Given the description of an element on the screen output the (x, y) to click on. 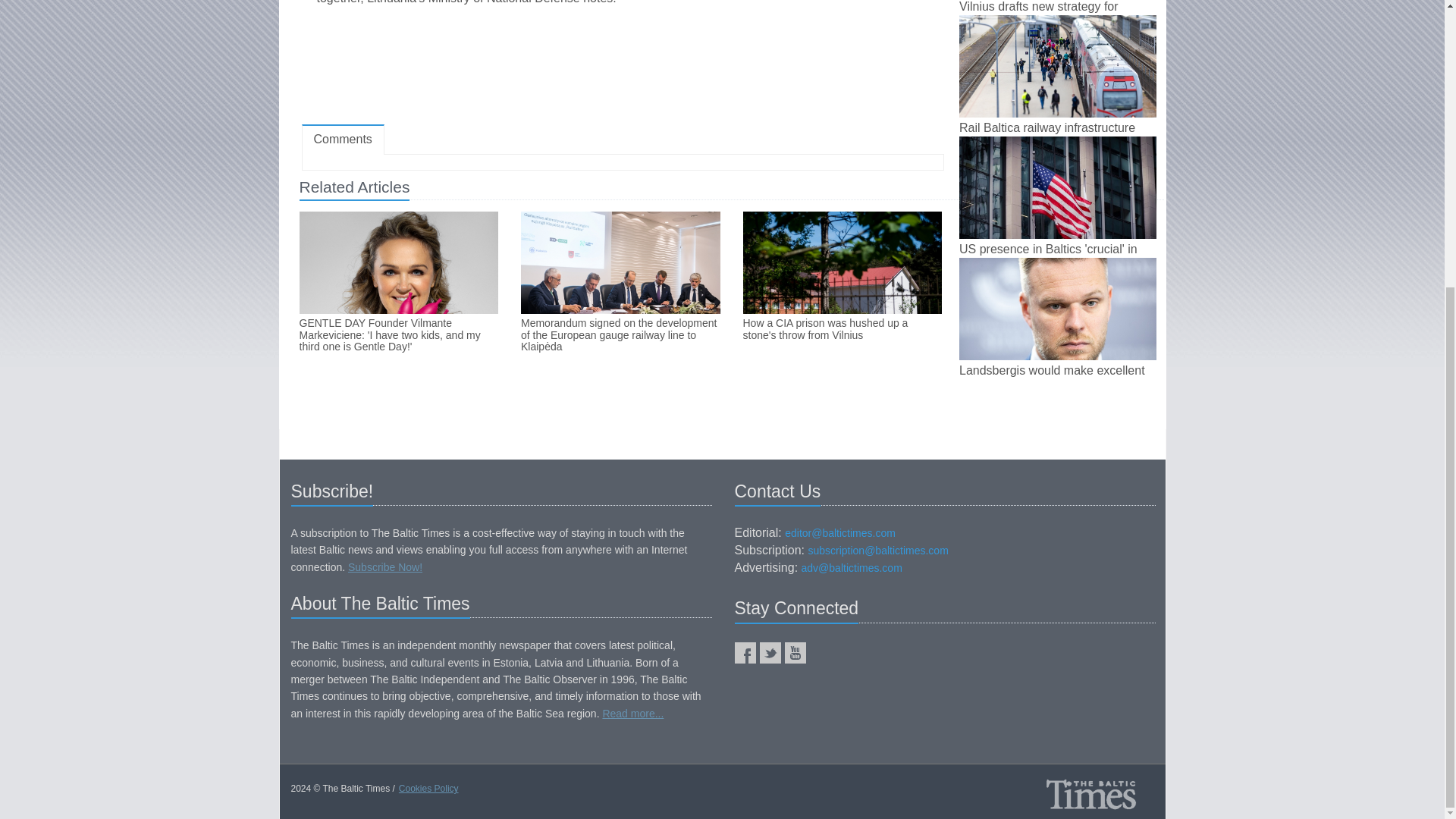
How a CIA prison was hushed up a stone's throw from Vilnius (842, 329)
Advertisement (622, 69)
Comments (342, 139)
